Given the description of an element on the screen output the (x, y) to click on. 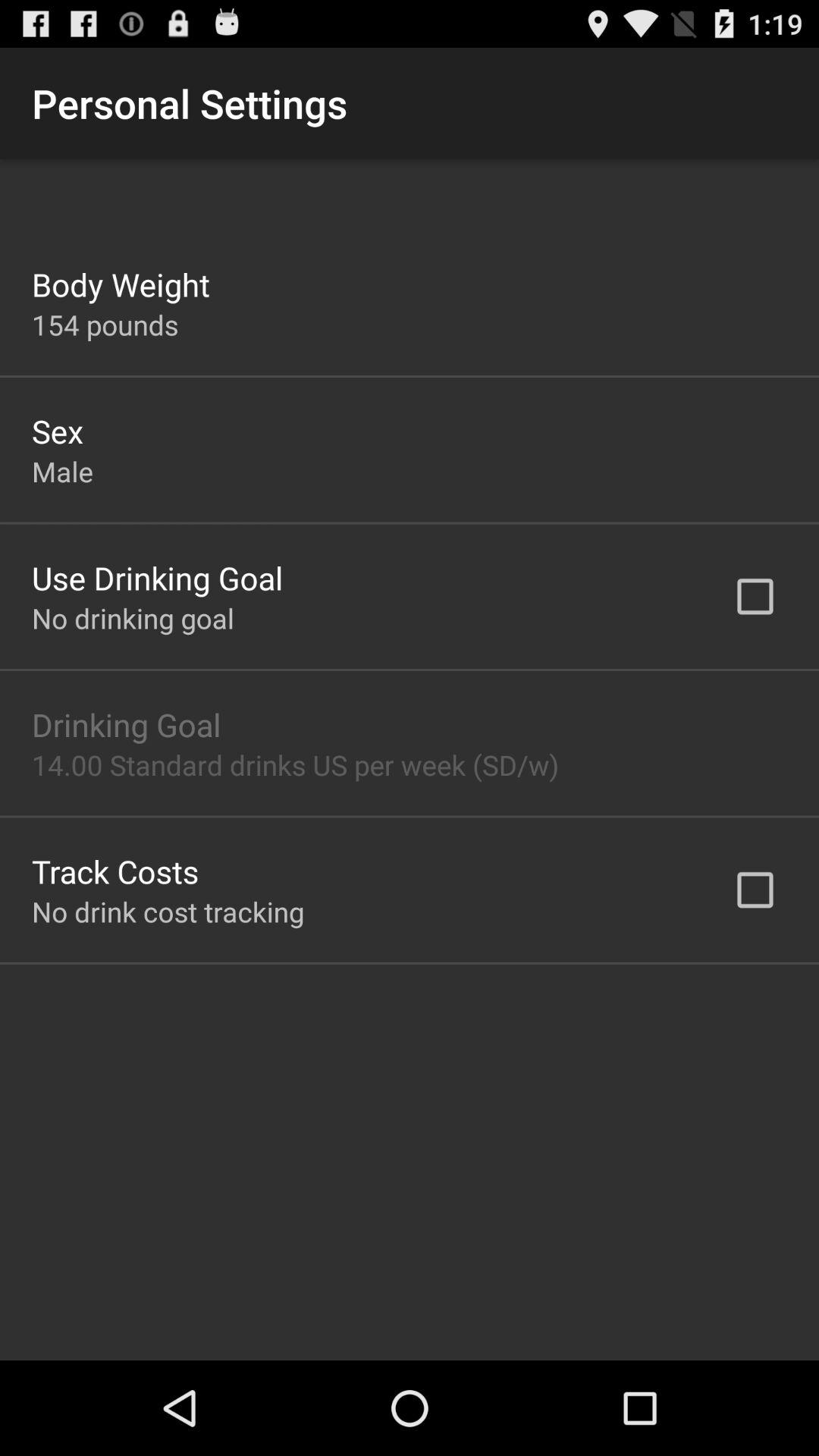
tap item below the 14 00 standard item (115, 870)
